Given the description of an element on the screen output the (x, y) to click on. 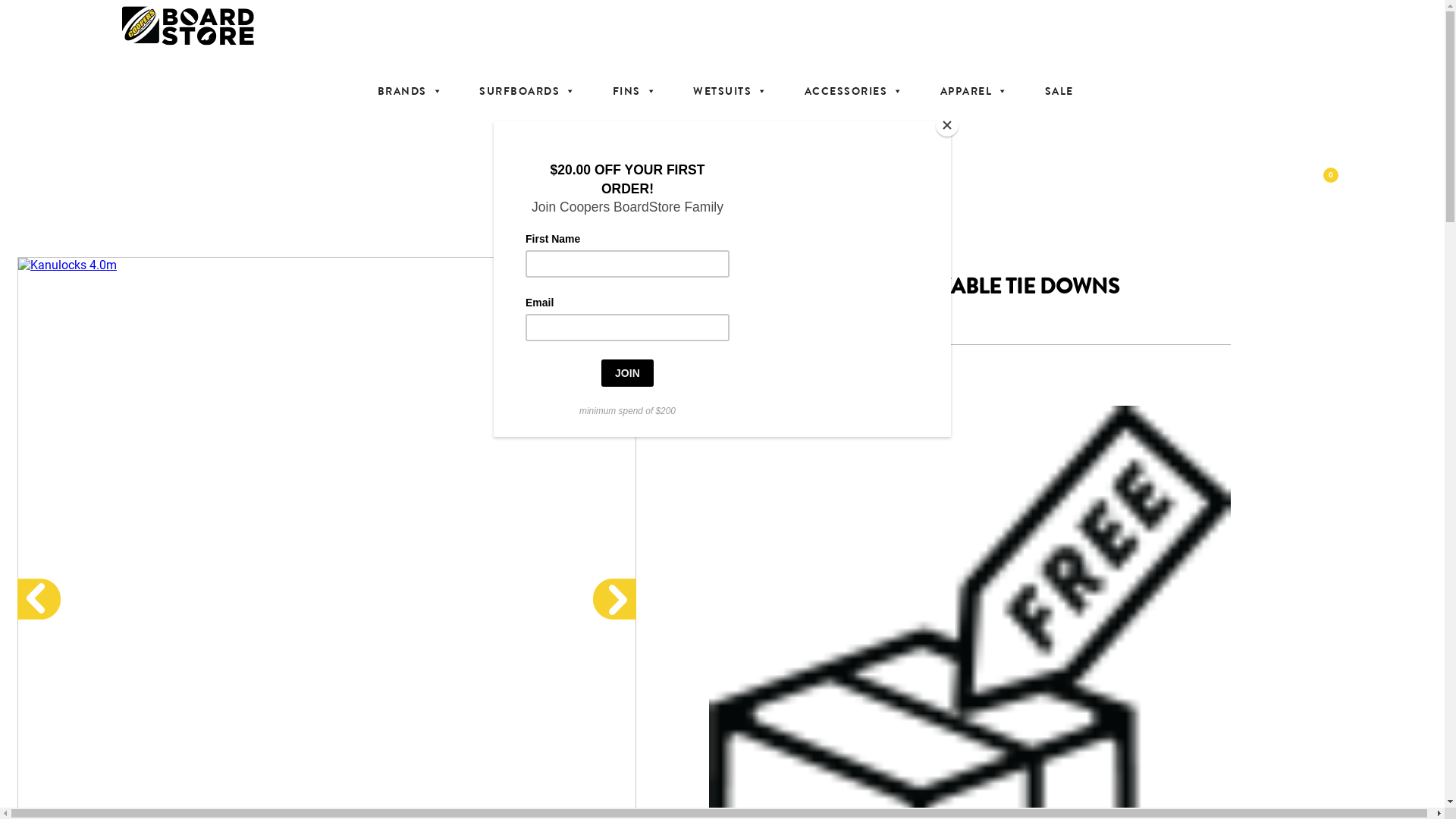
Search Element type: text (21, 7)
FINS Element type: text (634, 90)
WETSUITS Element type: text (730, 90)
APPAREL Element type: text (974, 90)
Coopers Board Store Element type: hover (727, 25)
SURFBOARDS Element type: text (527, 90)
ACCESSORIES Element type: text (853, 90)
BRANDS Element type: text (410, 90)
SALE Element type: text (1058, 90)
